Given the description of an element on the screen output the (x, y) to click on. 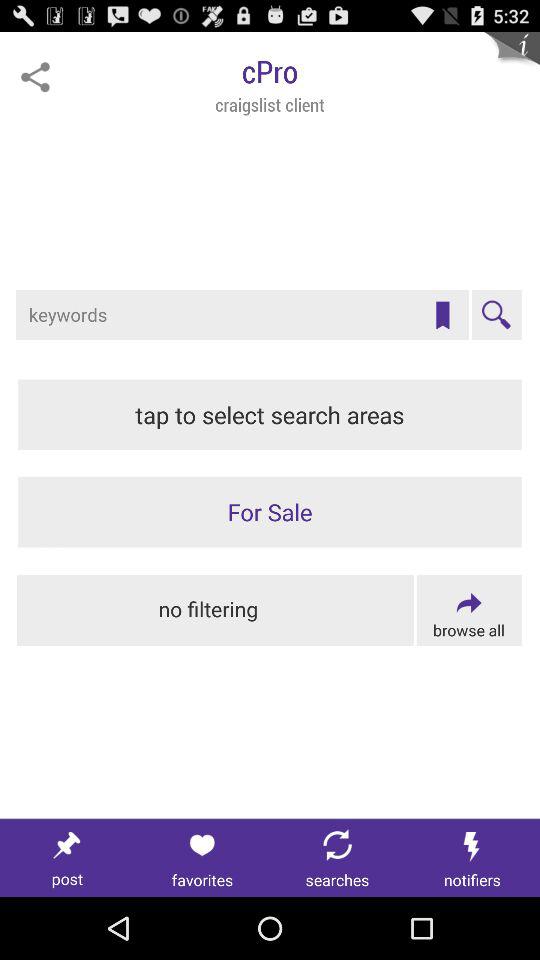
show all the notifiers (472, 858)
